Given the description of an element on the screen output the (x, y) to click on. 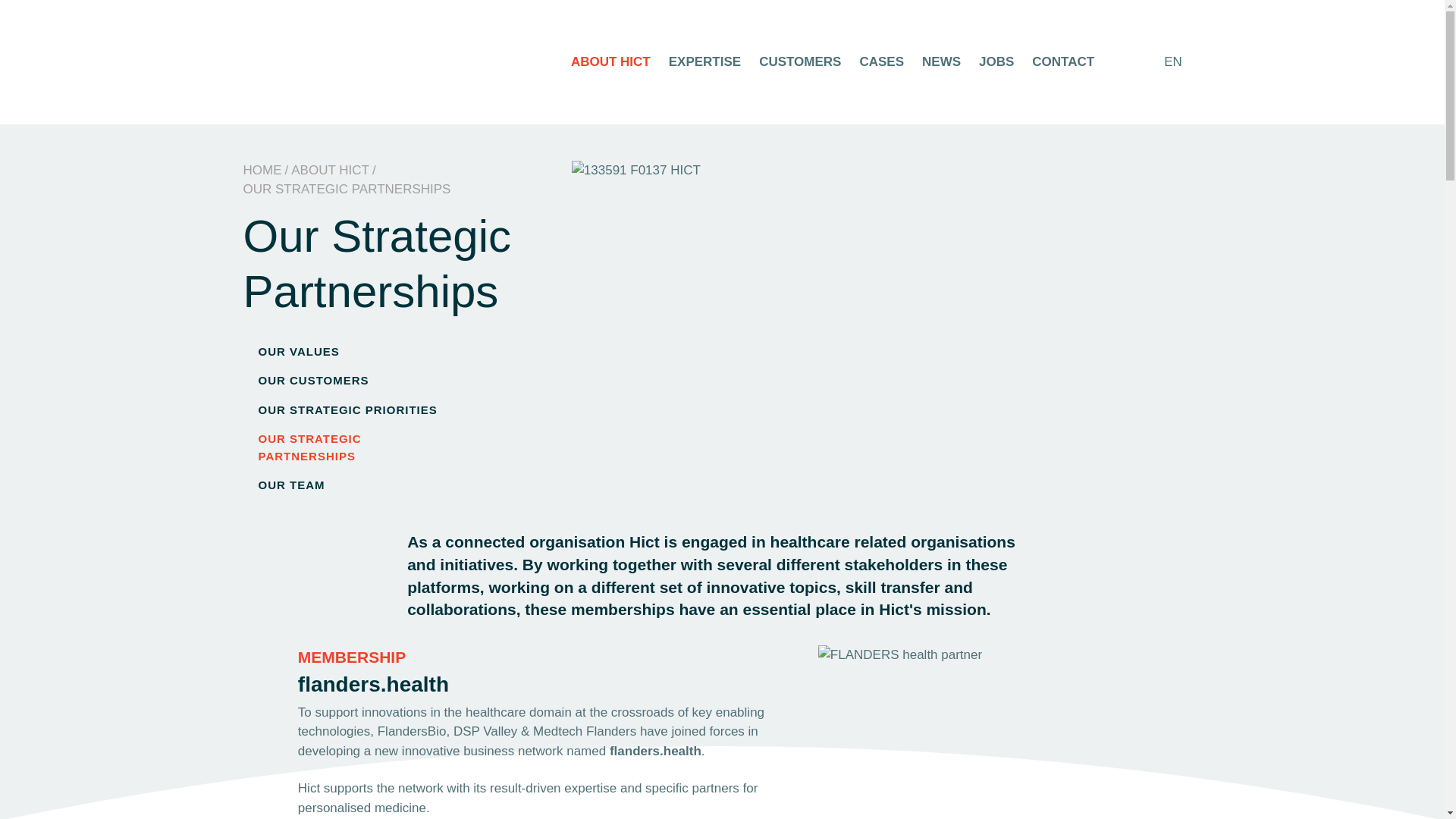
CASES (881, 61)
ABOUT HICT (330, 170)
NEWS (940, 61)
CONTACT (1063, 61)
EXPERTISE (704, 61)
HOME (262, 169)
OUR CUSTOMERS (352, 380)
EN (1179, 61)
CUSTOMERS (799, 61)
OUR VALUES (352, 351)
